Given the description of an element on the screen output the (x, y) to click on. 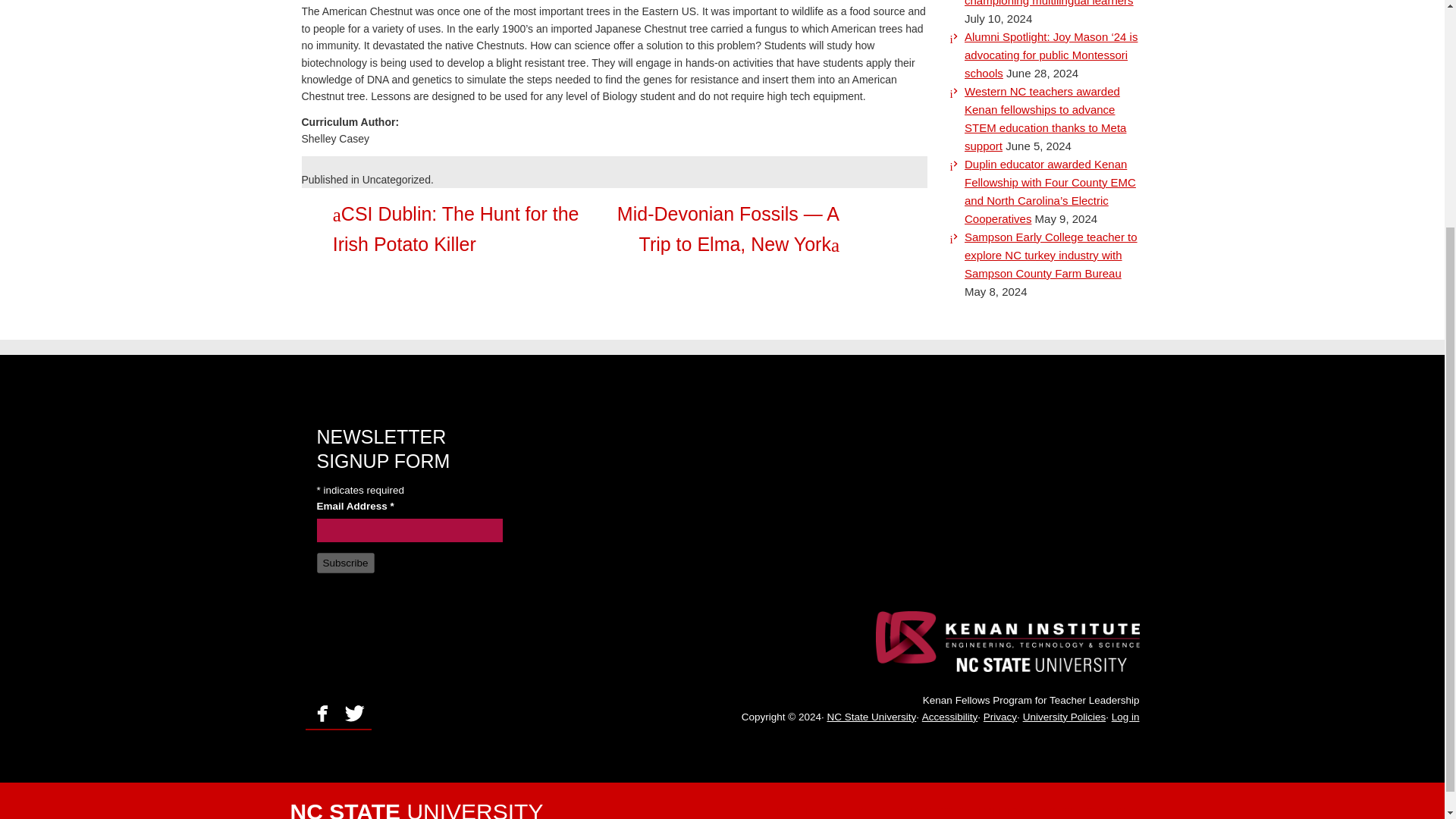
Subscribe (345, 563)
